Given the description of an element on the screen output the (x, y) to click on. 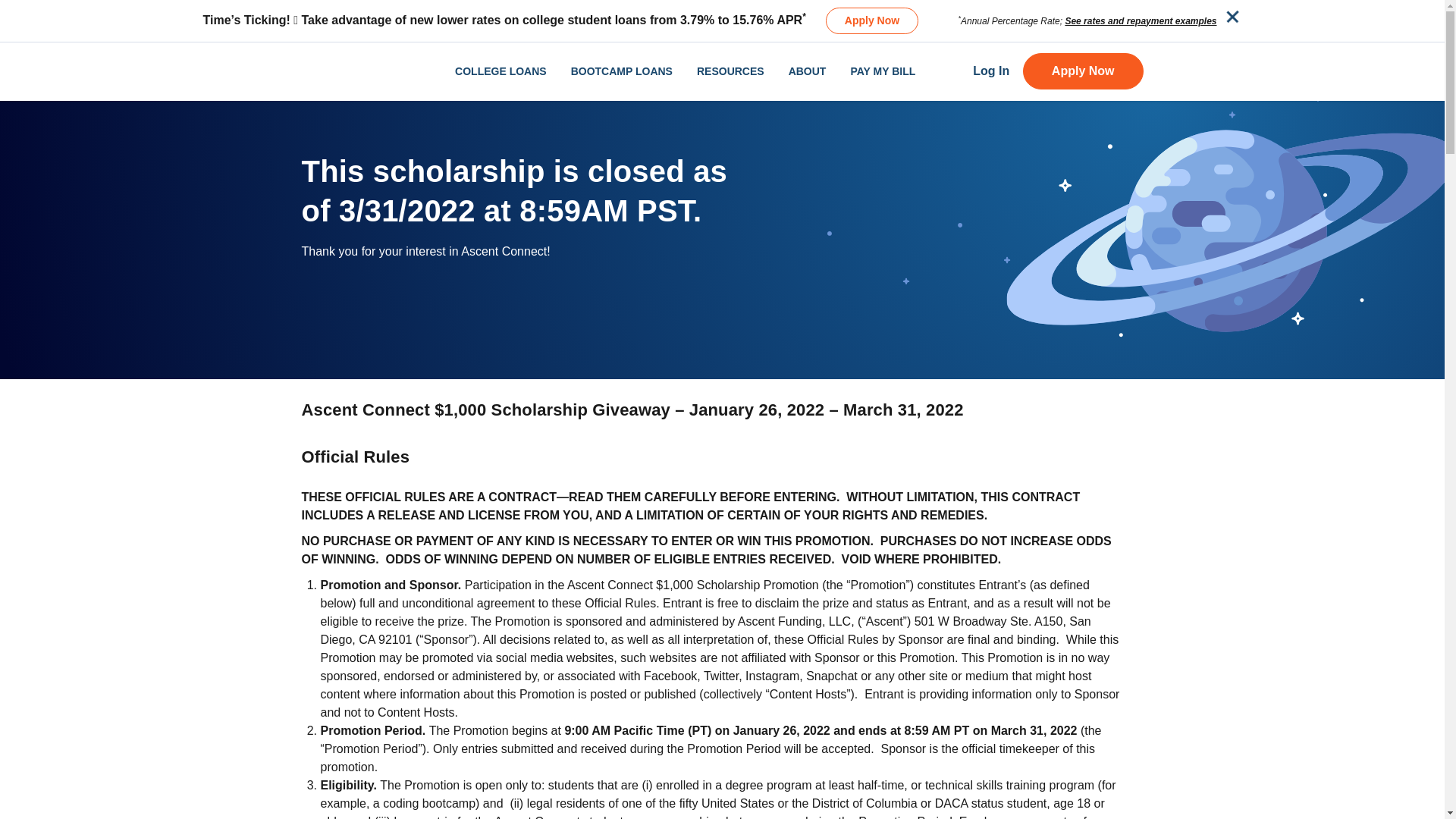
COLLEGE LOANS (500, 71)
BOOTCAMP LOANS (621, 71)
ABOUT (808, 71)
RESOURCES (730, 71)
